Given the description of an element on the screen output the (x, y) to click on. 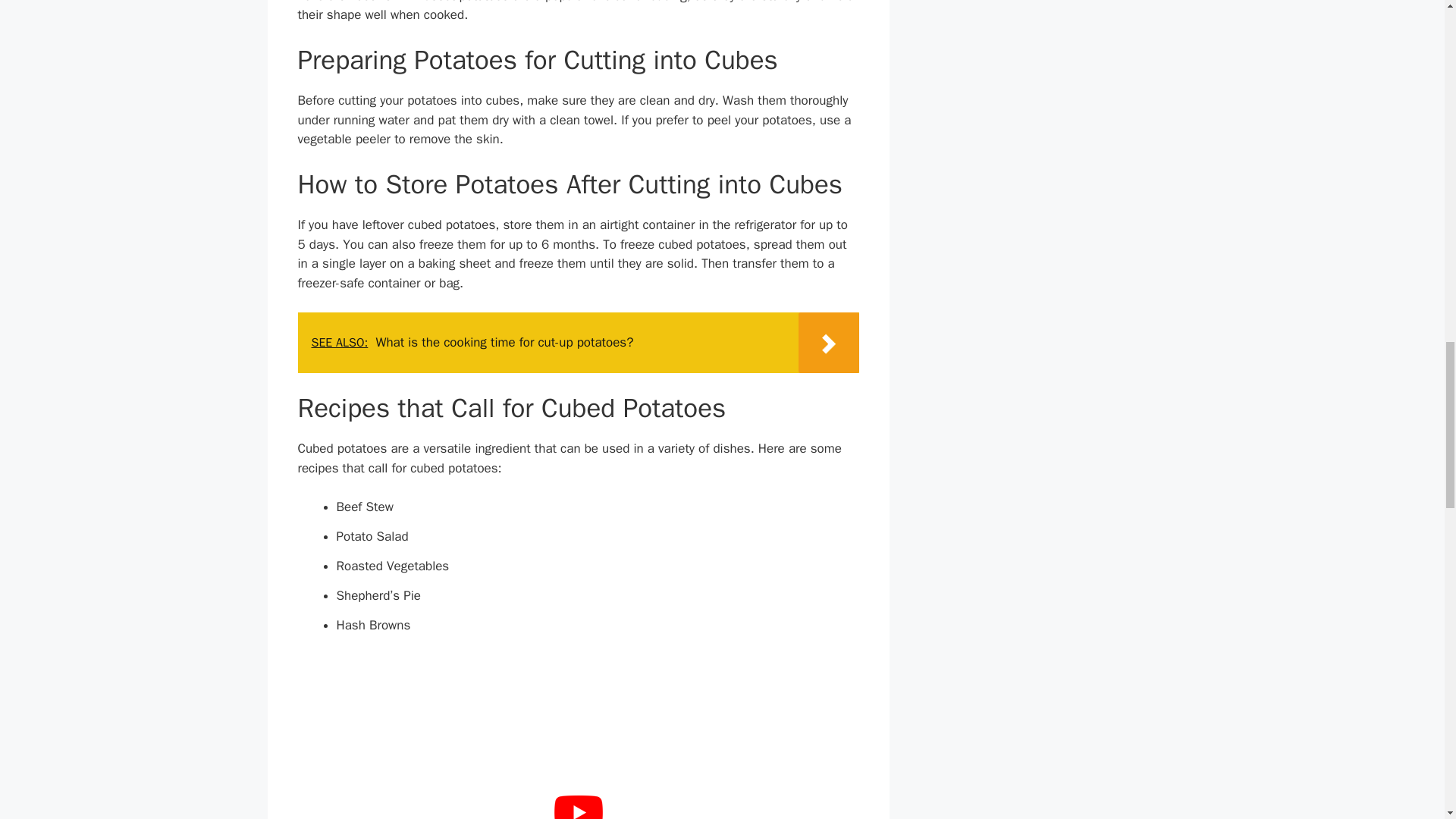
SEE ALSO:  What is the cooking time for cut-up potatoes? (578, 342)
